Given the description of an element on the screen output the (x, y) to click on. 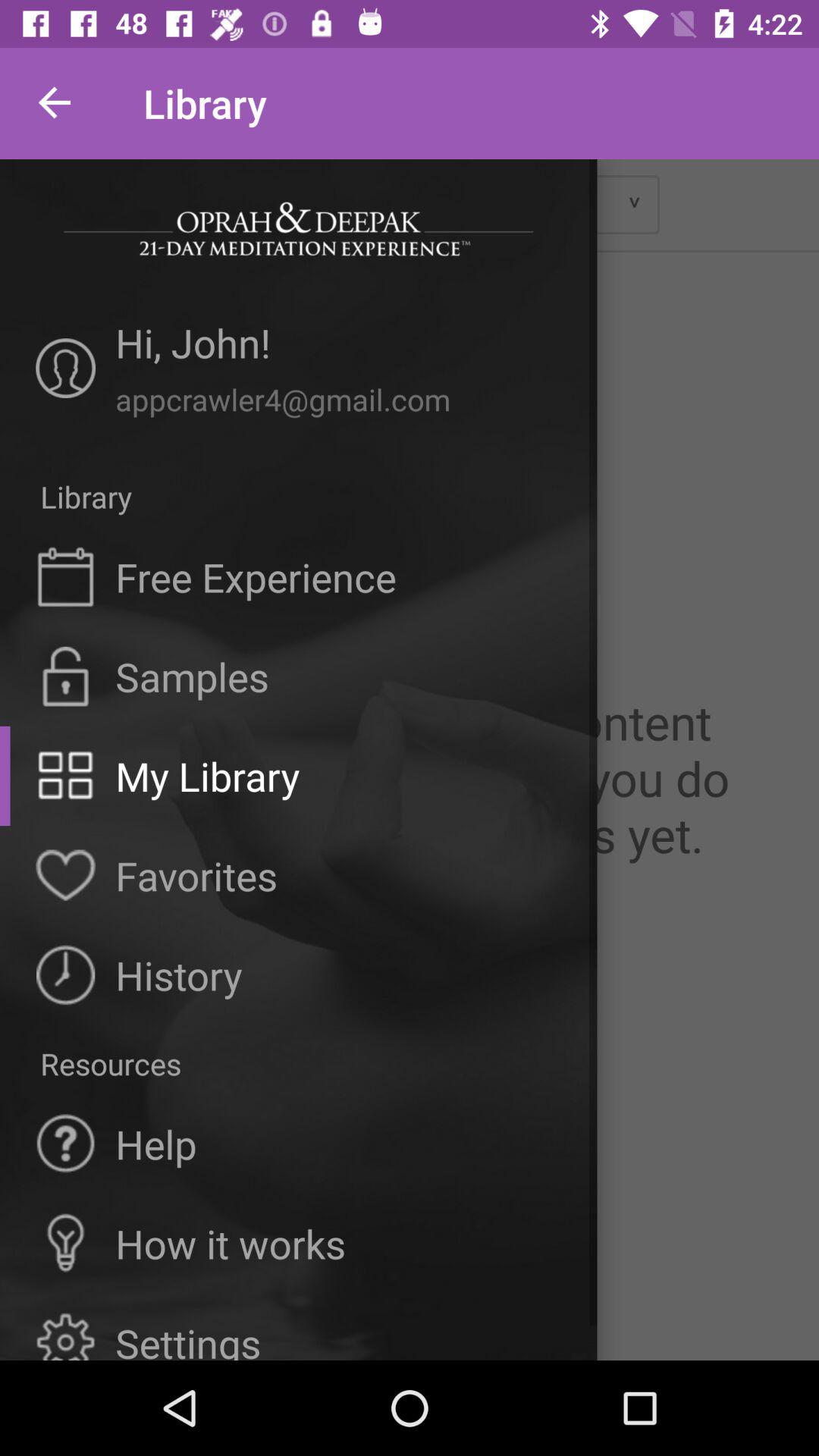
flip until the how it works (230, 1243)
